Given the description of an element on the screen output the (x, y) to click on. 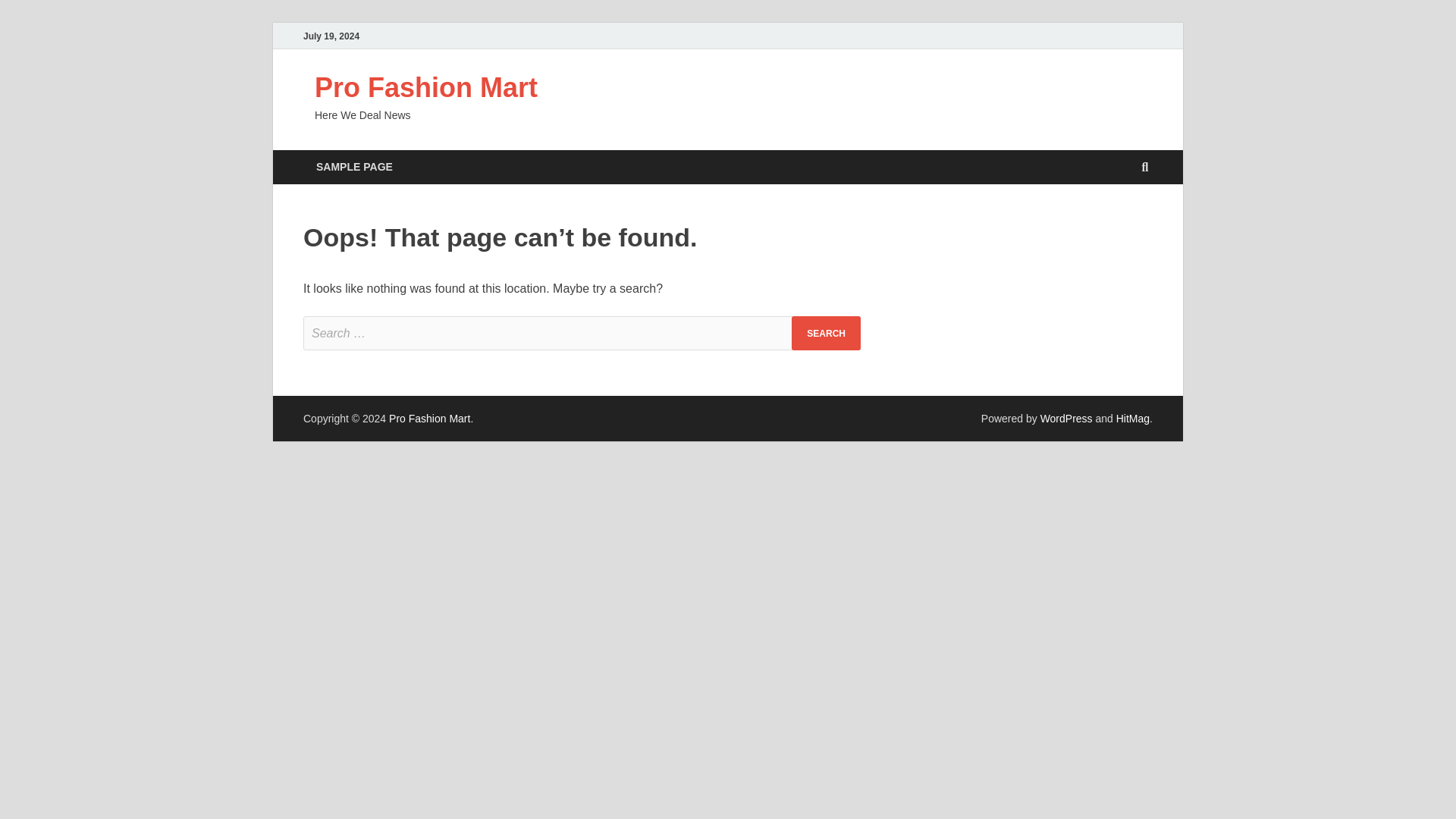
Search (826, 333)
Search (826, 333)
SAMPLE PAGE (354, 166)
Search (826, 333)
Pro Fashion Mart (425, 87)
